Given the description of an element on the screen output the (x, y) to click on. 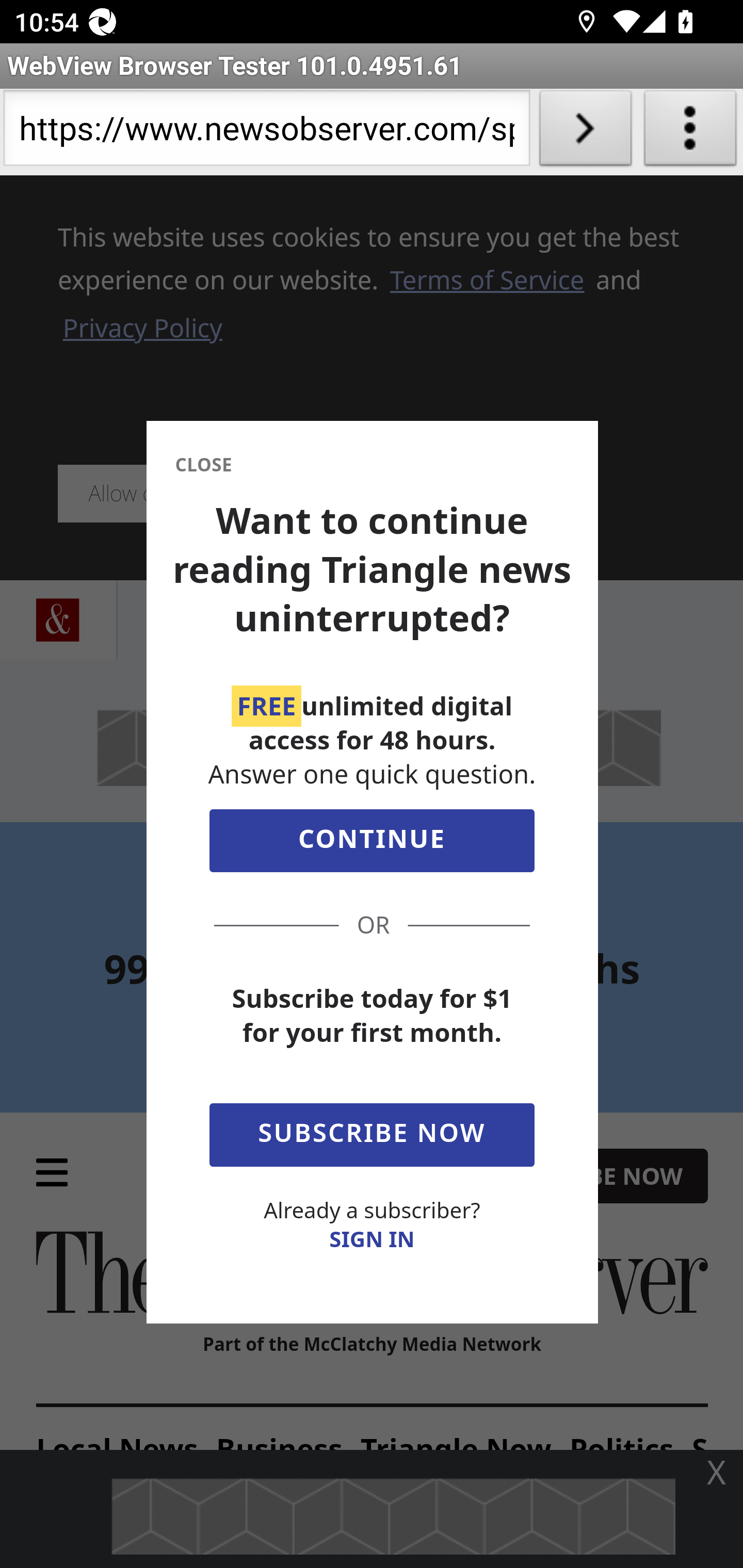
Load URL (585, 132)
About WebView (690, 132)
CLOSE (203, 464)
CONTINUE (371, 844)
SUBSCRIBE NOW (371, 1130)
SIGN IN (371, 1239)
